Given the description of an element on the screen output the (x, y) to click on. 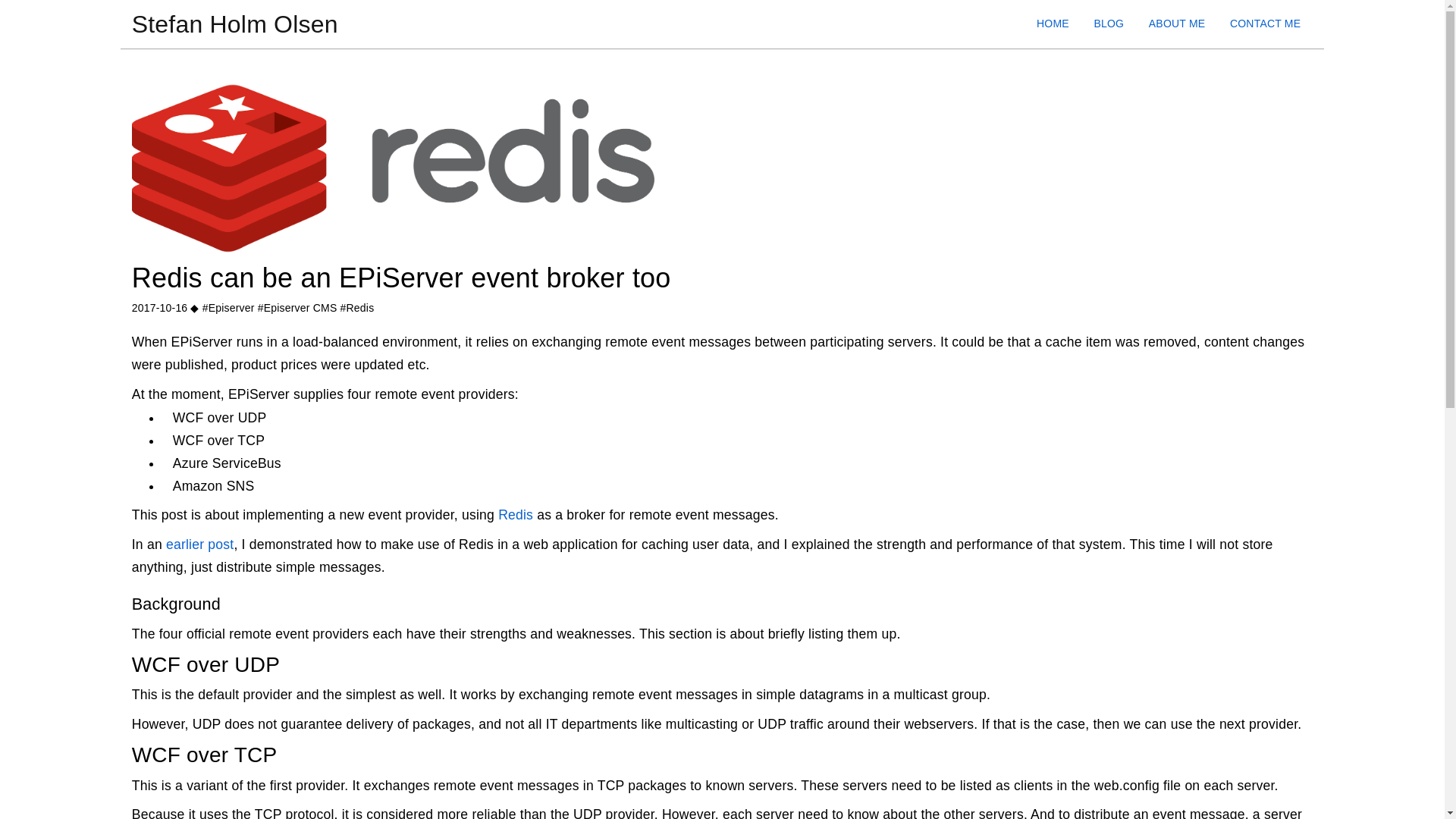
CONTACT ME (1265, 23)
earlier post (198, 544)
HOME (1052, 23)
Stefan Holm Olsen (234, 23)
BLOG (1108, 23)
Redis (514, 514)
ABOUT ME (1176, 23)
